Given the description of an element on the screen output the (x, y) to click on. 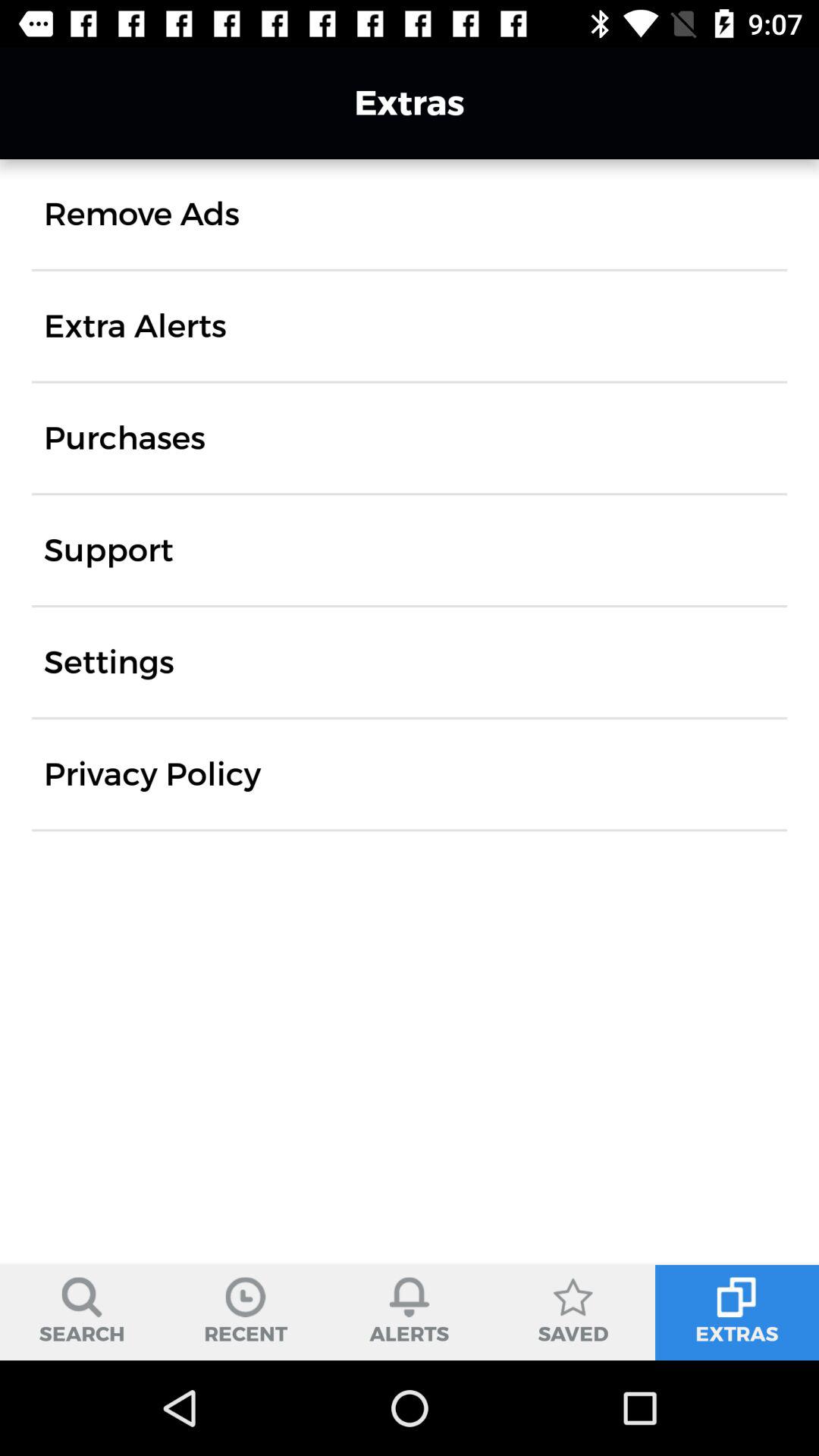
open item above extra alerts item (141, 214)
